Given the description of an element on the screen output the (x, y) to click on. 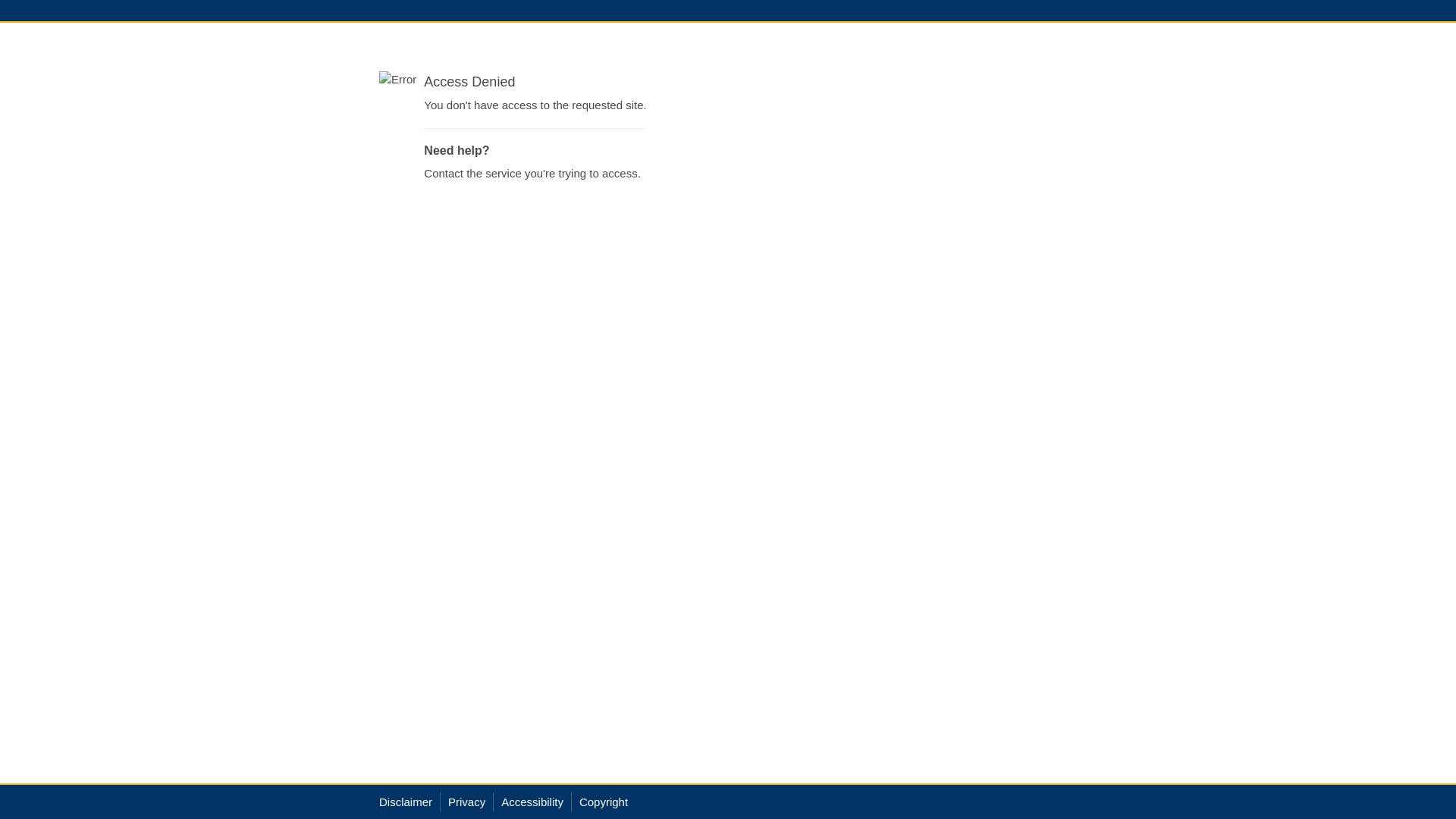
Disclaimer Element type: text (405, 801)
Privacy Element type: text (466, 801)
Error Element type: hover (397, 79)
Copyright Element type: text (603, 801)
Accessibility Element type: text (532, 801)
